Given the description of an element on the screen output the (x, y) to click on. 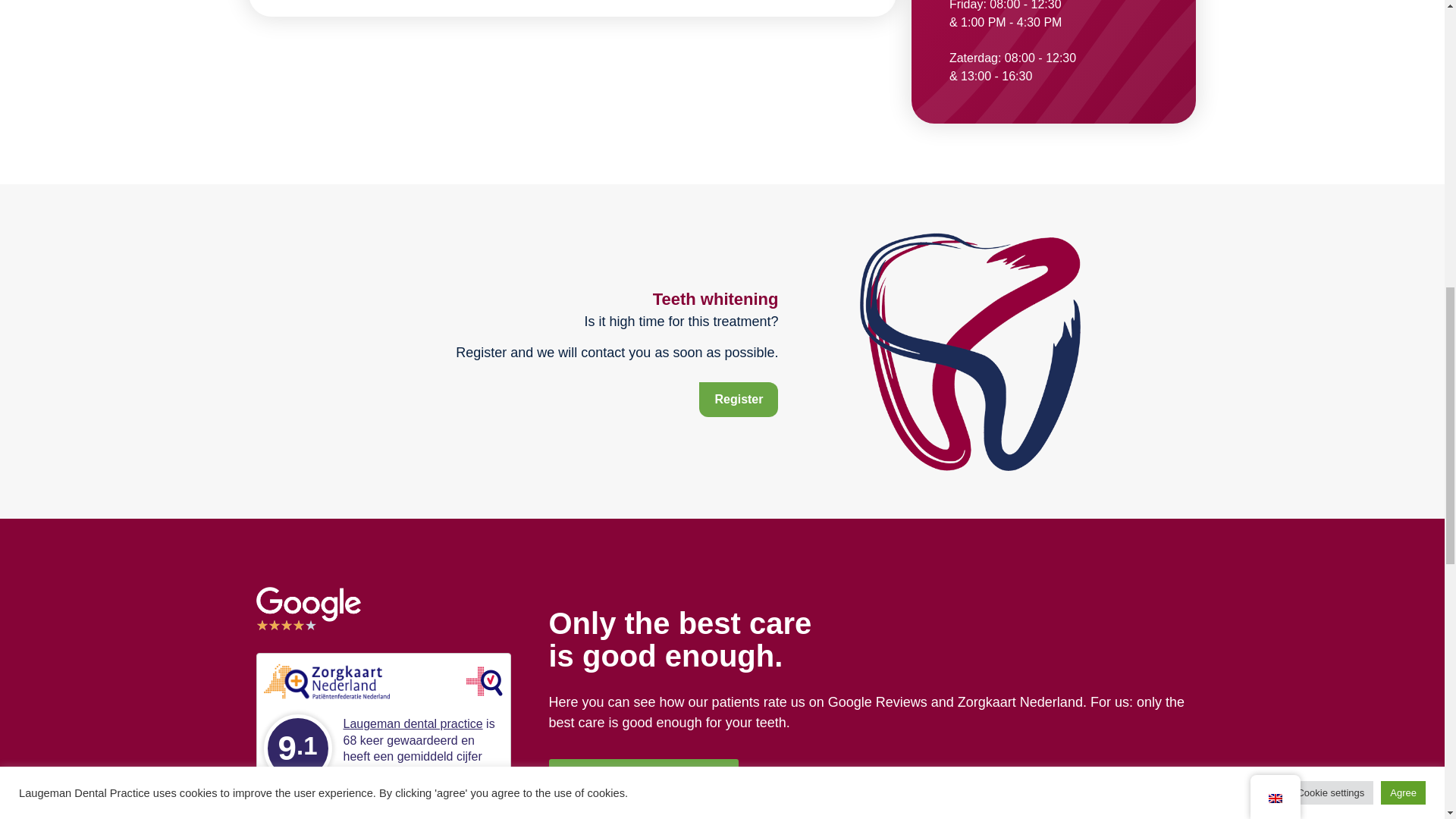
Laugeman dental practice (411, 723)
ZorgkaartNederland (326, 679)
View all ratings (340, 797)
post a rating (431, 797)
post a rating (431, 797)
View all ratings (340, 797)
Patient Federation Netherlands (484, 679)
Register (737, 399)
Laugeman dental practice (411, 723)
